Given the description of an element on the screen output the (x, y) to click on. 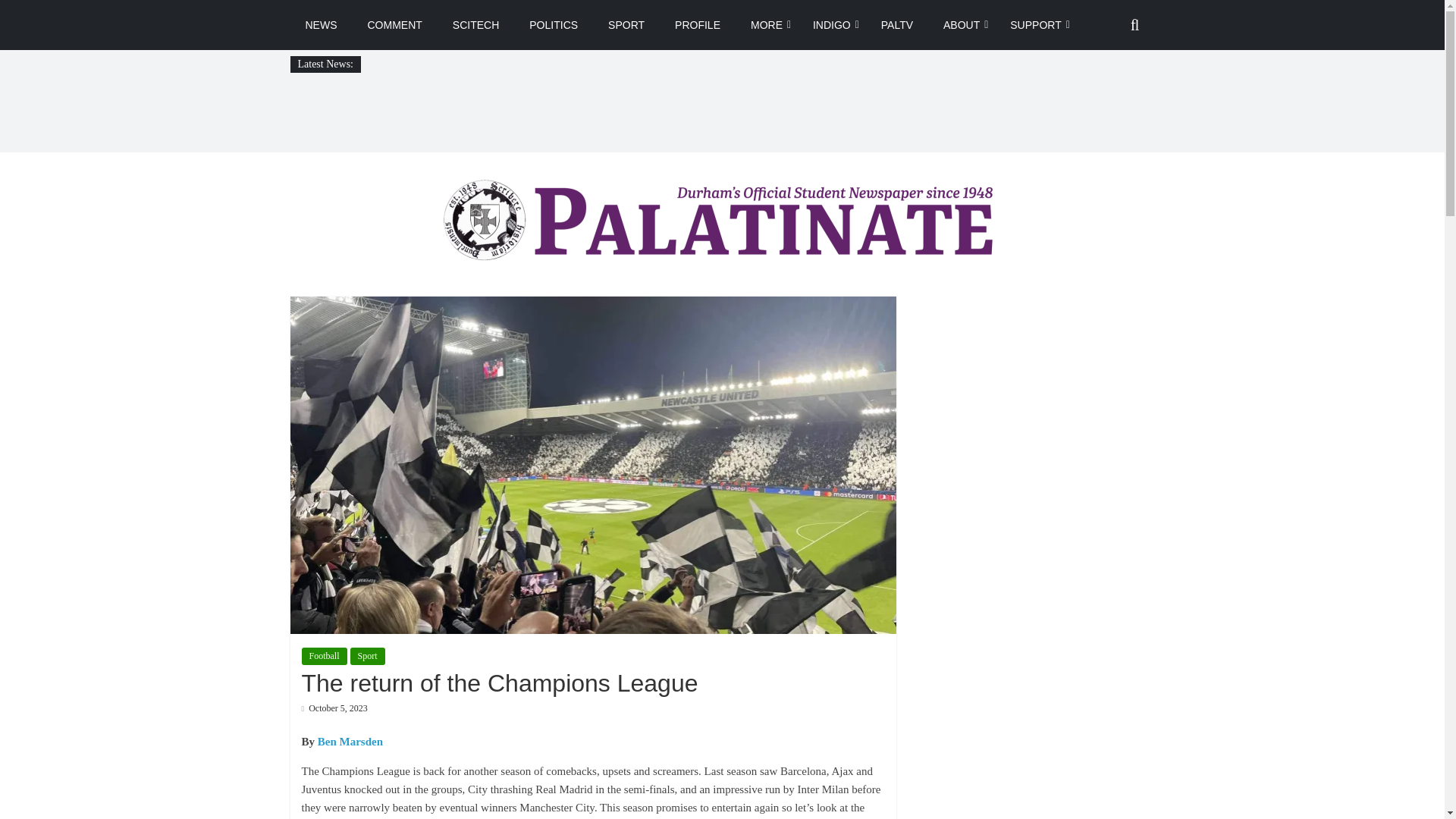
SCITECH (475, 24)
PALTV (897, 24)
NEWS (320, 24)
COMMENT (394, 24)
PROFILE (697, 24)
INDIGO (831, 24)
SPORT (625, 24)
MORE (766, 24)
4:59 pm (334, 707)
SUPPORT (1034, 24)
